Given the description of an element on the screen output the (x, y) to click on. 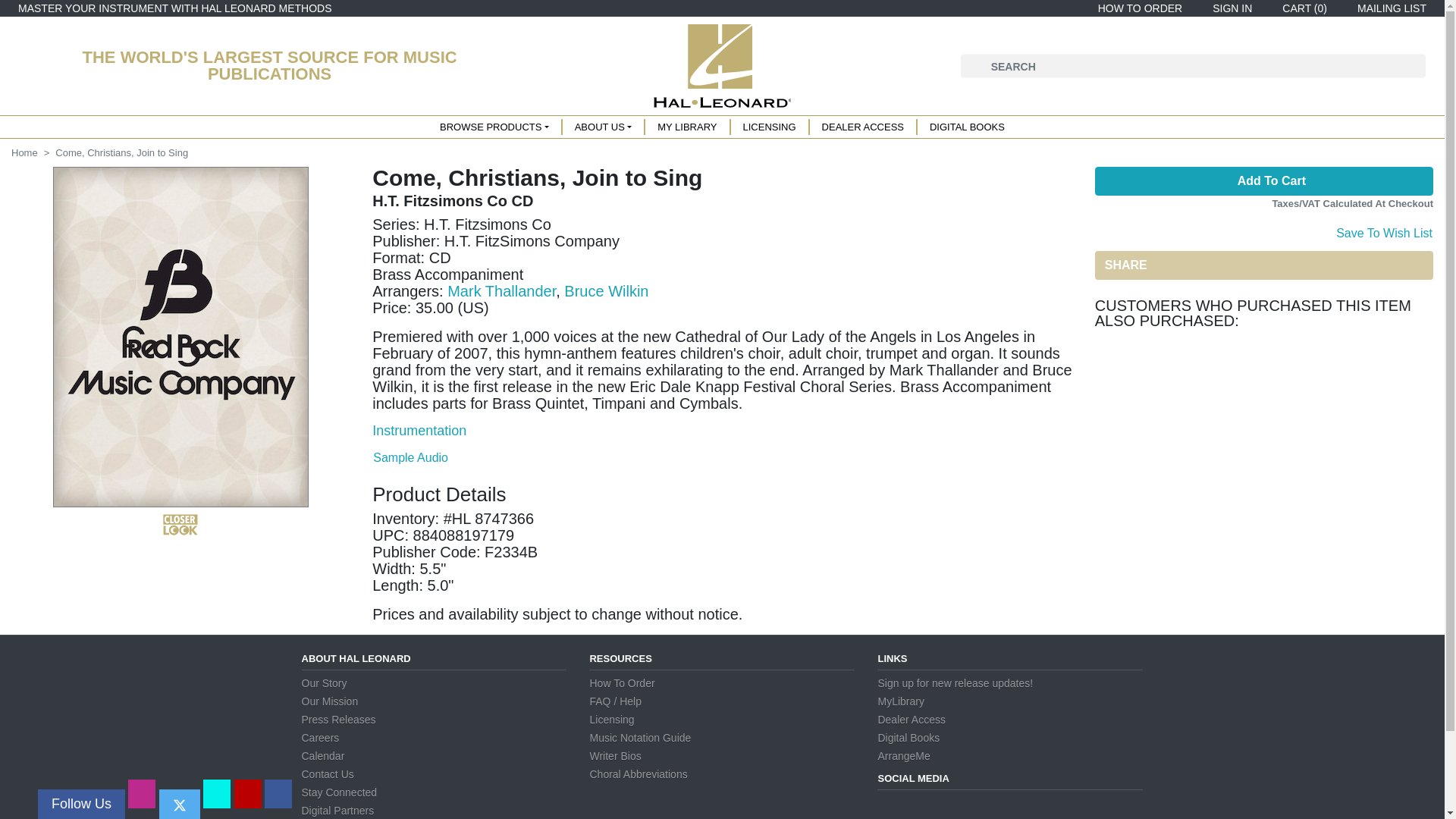
Add to Wish List (1383, 231)
Closer Look (180, 524)
SIGN IN (1229, 8)
Add to Cart (1263, 181)
MASTER YOUR INSTRUMENT WITH HAL LEONARD METHODS (174, 8)
MAILING LIST (1388, 8)
HOW TO ORDER (1137, 8)
